Given the description of an element on the screen output the (x, y) to click on. 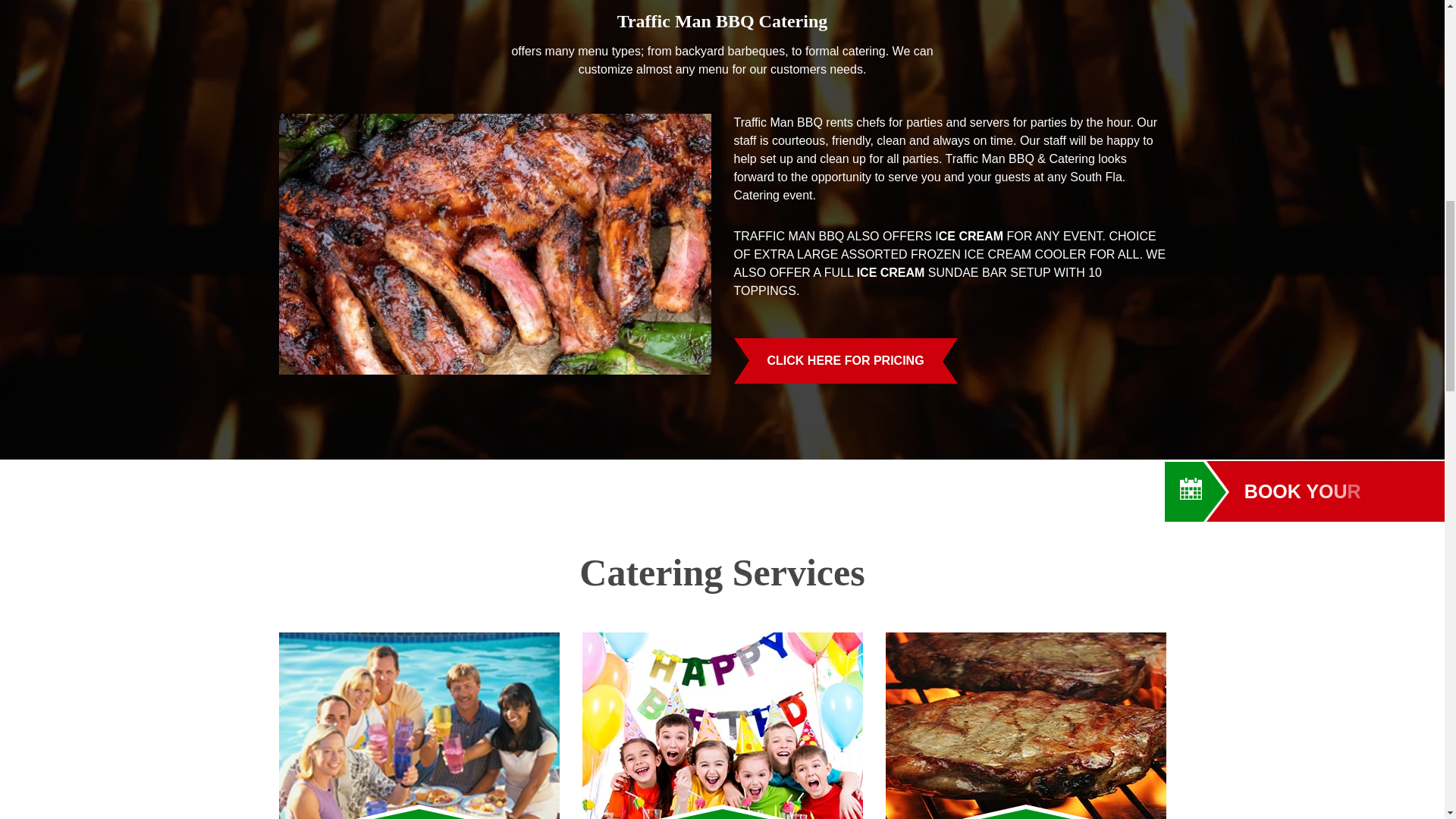
Birthday Parties (722, 725)
CLICK HERE FOR PRICING (845, 361)
Company Picnic (419, 725)
Backyard BBQ (1025, 725)
